Given the description of an element on the screen output the (x, y) to click on. 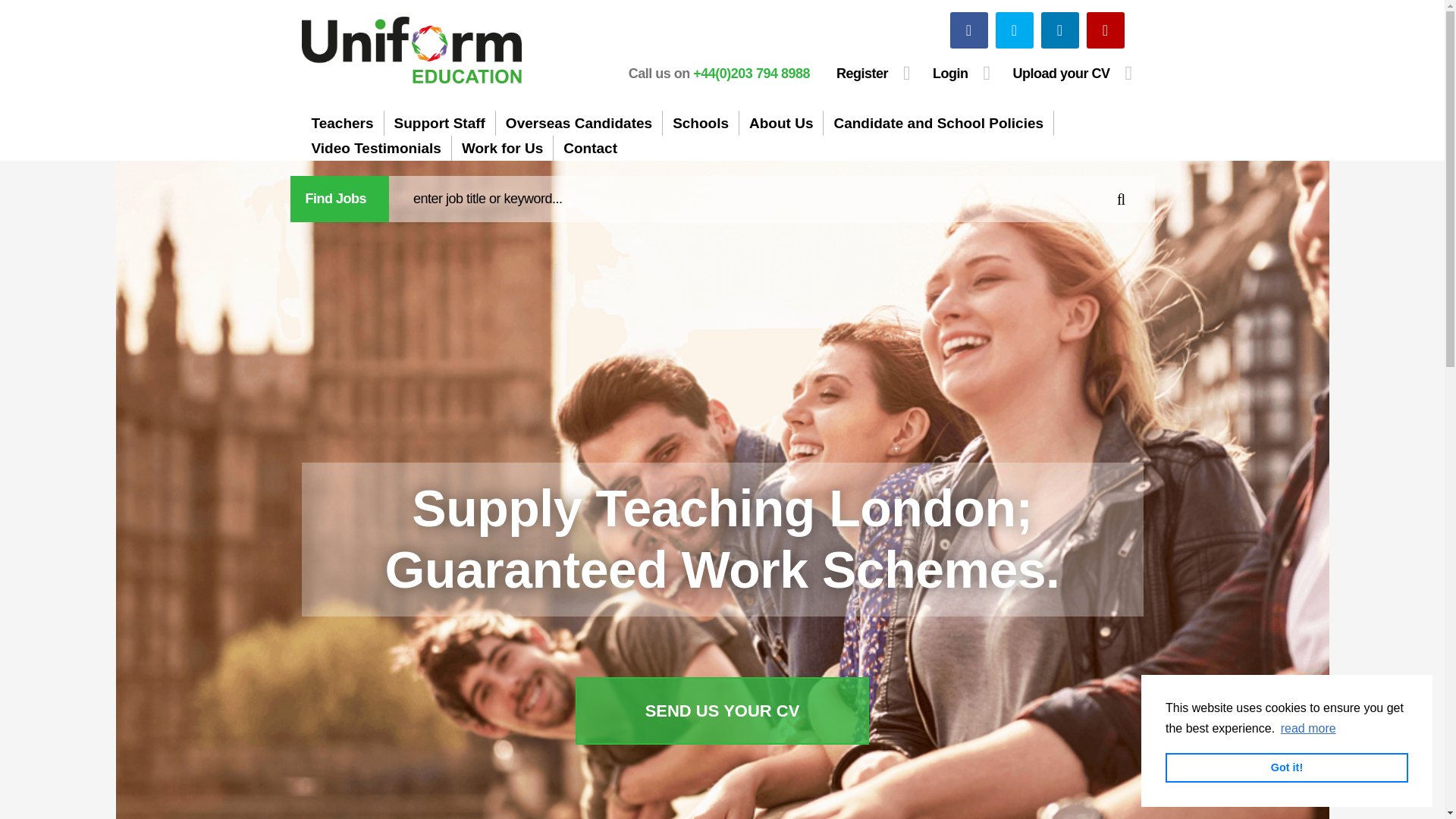
Teachers (342, 122)
Support Staff (439, 122)
Uniform Education (411, 49)
Register (873, 72)
read more (1308, 728)
Got it! (1286, 767)
Overseas Candidates (579, 122)
Go to the Homepage (411, 49)
Upload your CV (1071, 72)
About Us (780, 122)
Schools (700, 122)
Login (961, 72)
